Given the description of an element on the screen output the (x, y) to click on. 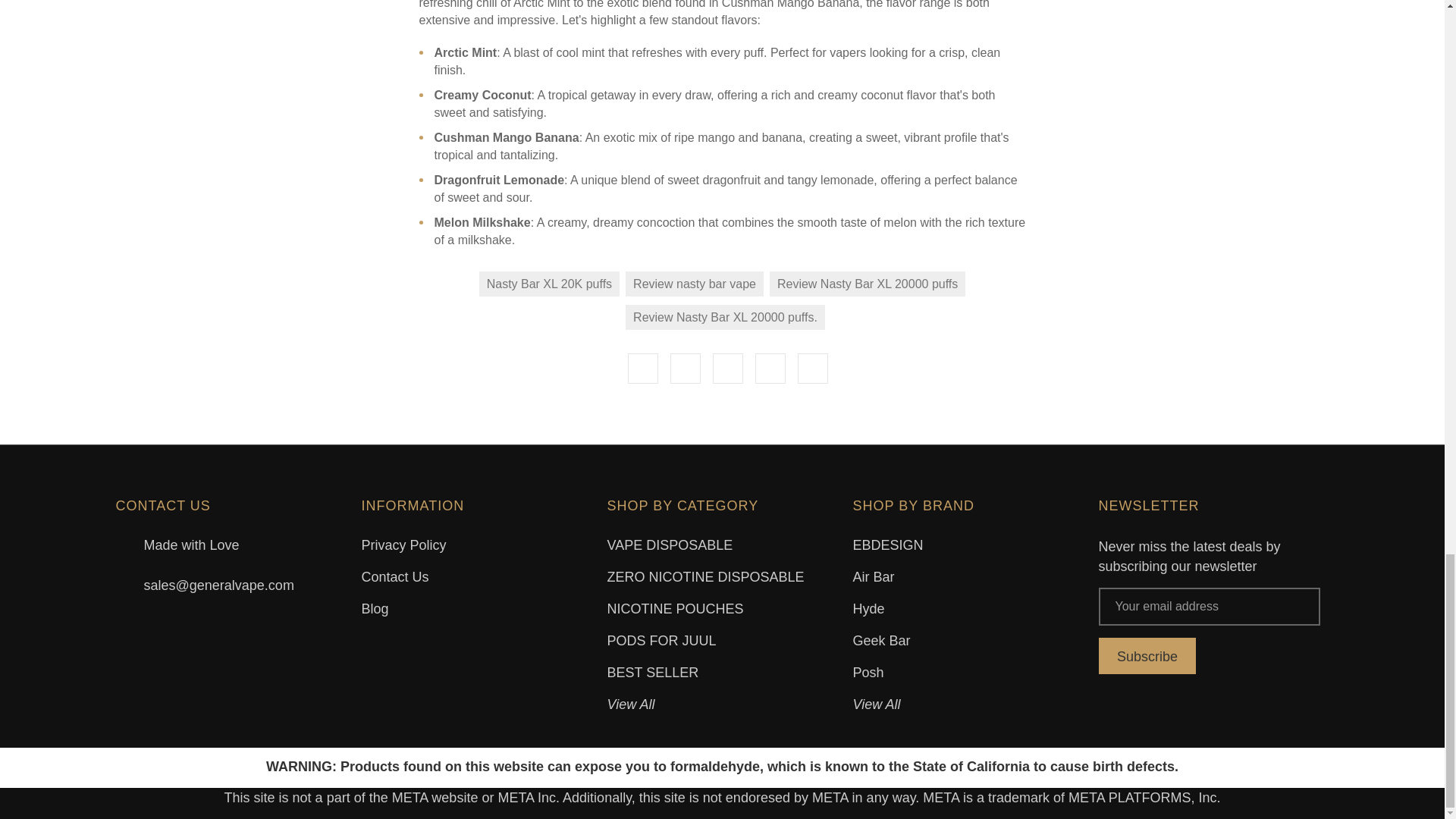
Print (727, 368)
Subscribe (1146, 656)
Facebook (642, 368)
Twitter (770, 368)
Email (684, 368)
Pinterest (812, 368)
